Given the description of an element on the screen output the (x, y) to click on. 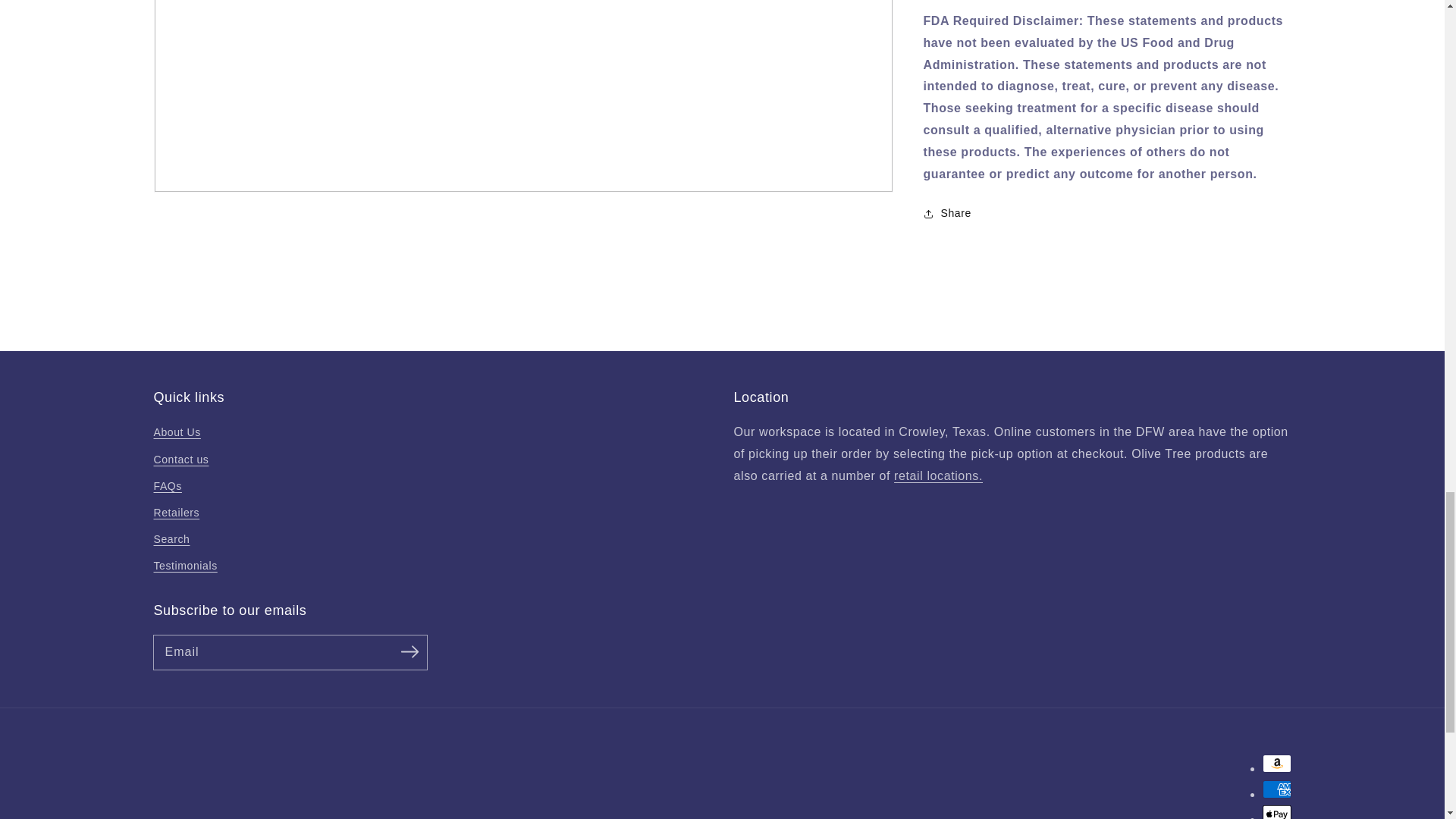
Amazon (1276, 763)
Retailers (937, 475)
